Given the description of an element on the screen output the (x, y) to click on. 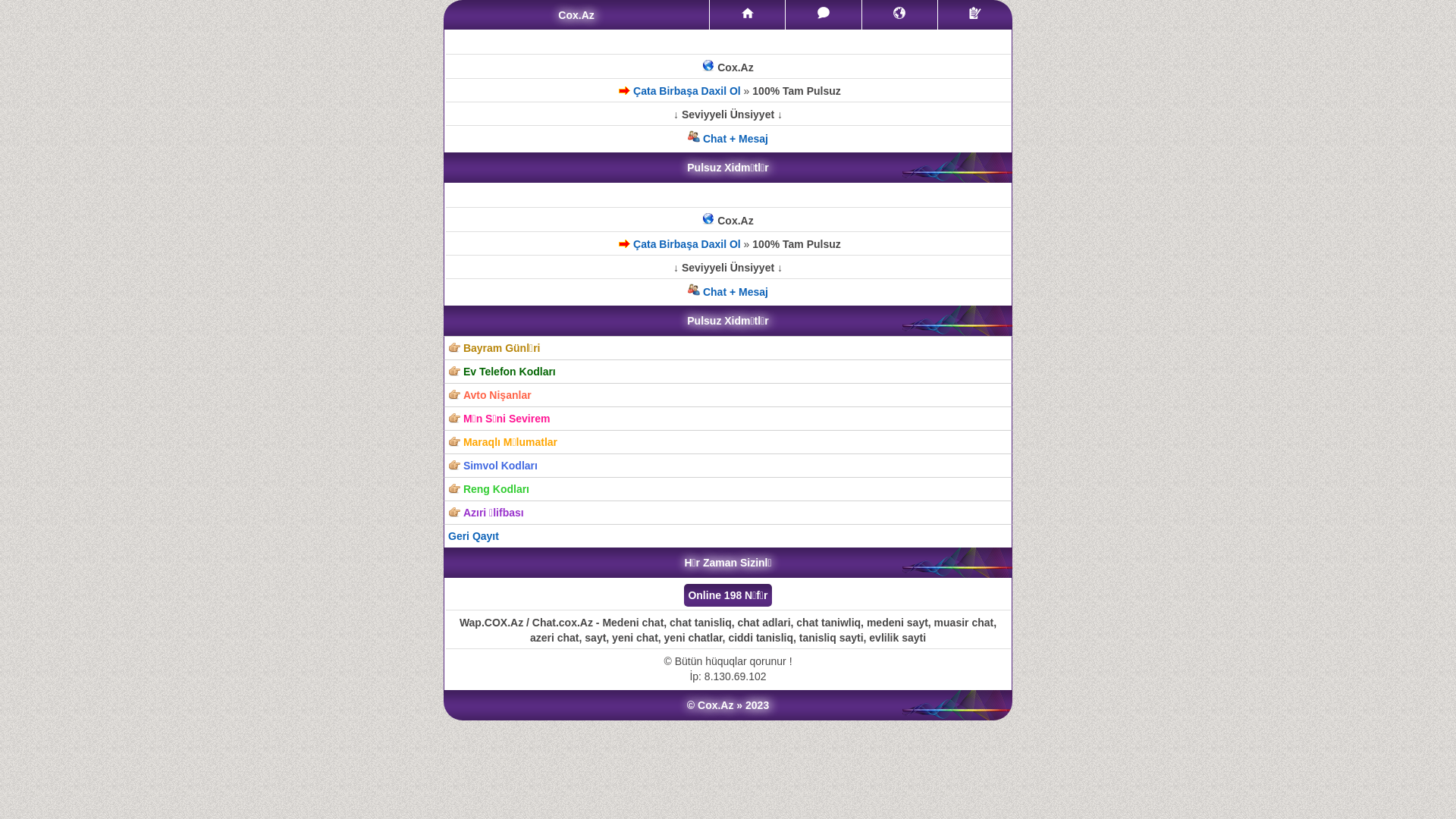
Chat + Mesaj Element type: text (727, 291)
Chat + Mesaj Element type: text (727, 138)
Bildirisler Element type: hover (899, 14)
Bildirisler Element type: hover (899, 12)
Qeydiyyat Element type: hover (975, 12)
Mesajlar Element type: hover (823, 12)
Qeydiyyat Element type: hover (974, 14)
Mesajlar Element type: hover (822, 14)
